Given the description of an element on the screen output the (x, y) to click on. 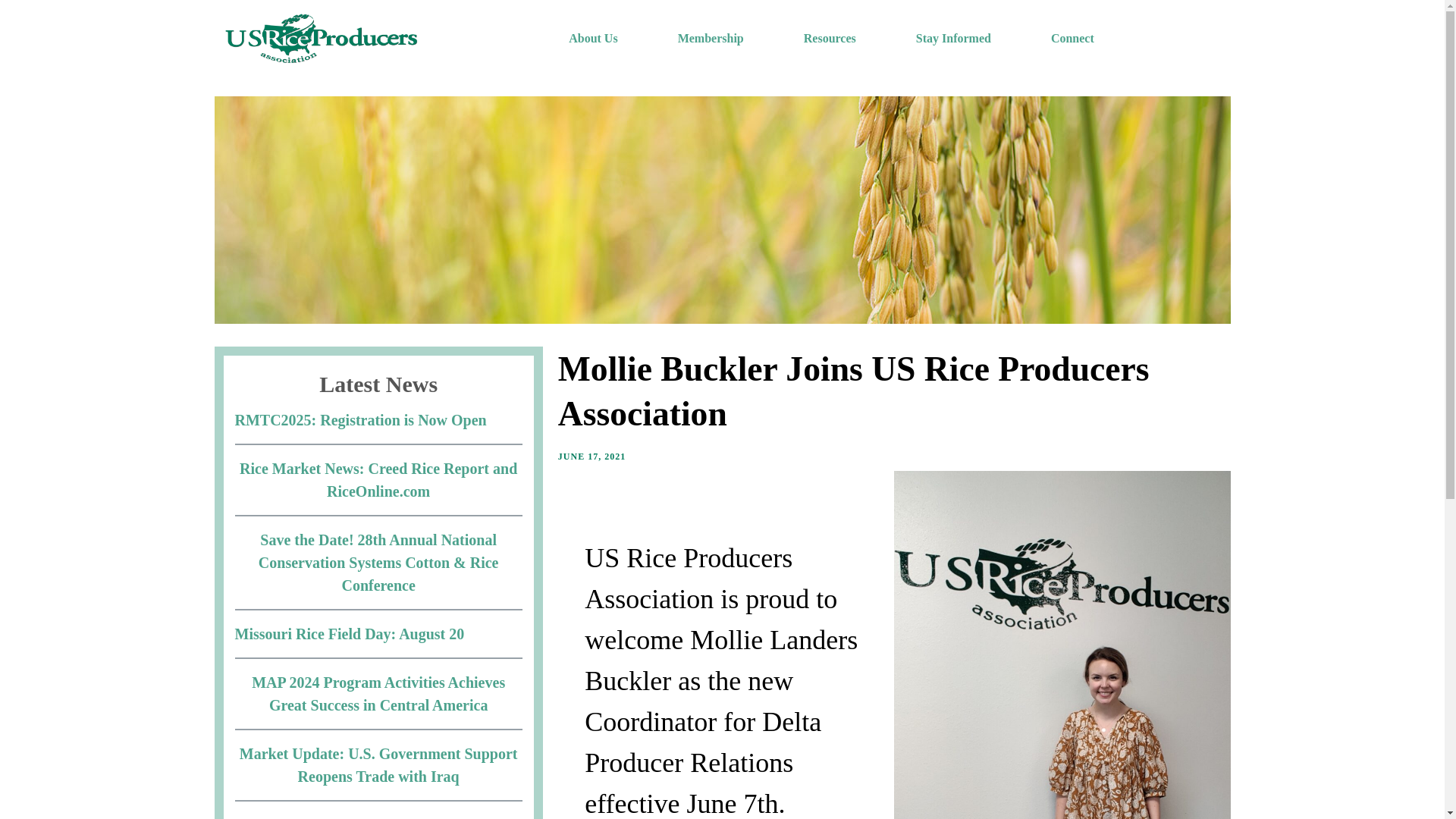
About Us (593, 38)
Resources (829, 38)
Membership (710, 38)
